Given the description of an element on the screen output the (x, y) to click on. 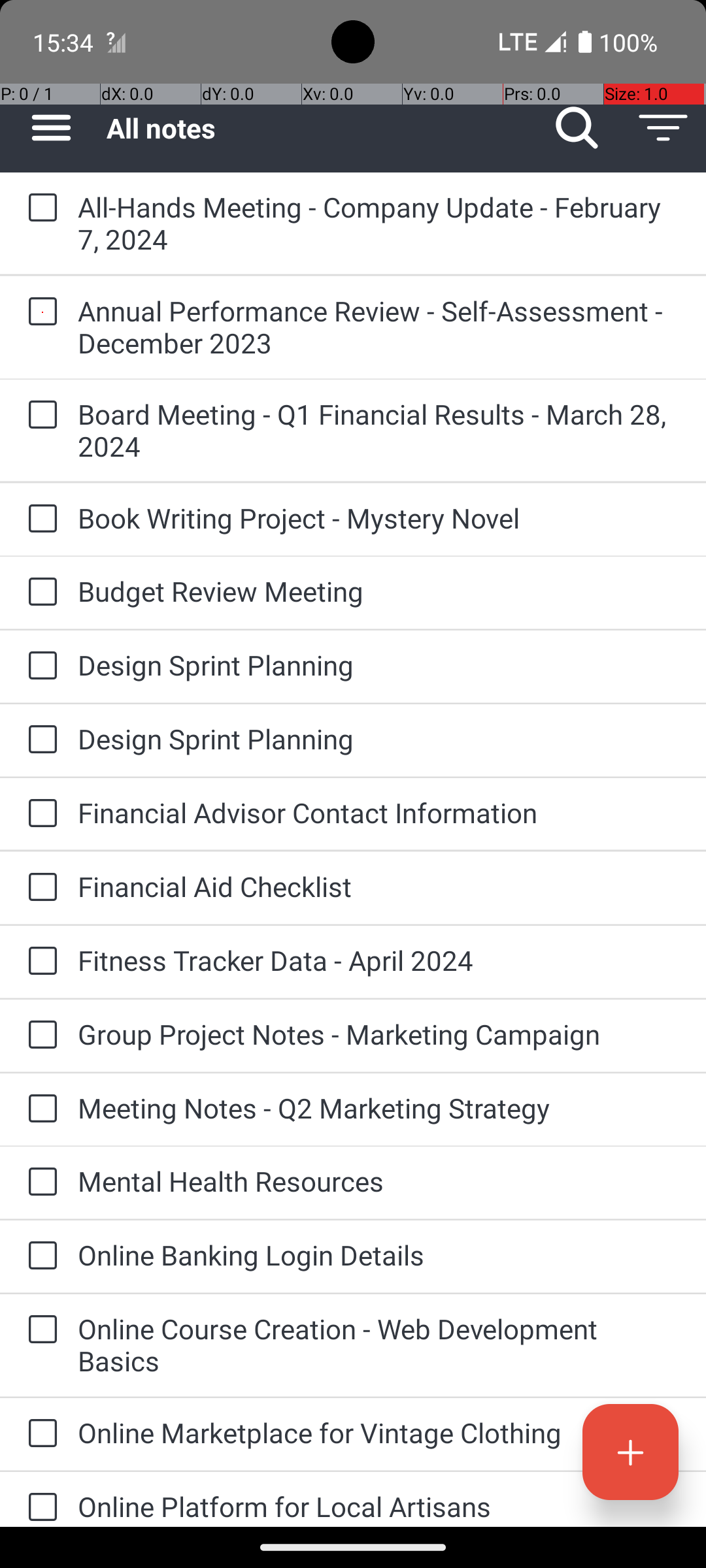
to-do: All-Hands Meeting - Company Update - February 7, 2024 Element type: android.widget.CheckBox (38, 208)
All-Hands Meeting - Company Update - February 7, 2024 Element type: android.widget.TextView (378, 222)
to-do: Board Meeting - Q1 Financial Results - March 28, 2024 Element type: android.widget.CheckBox (38, 415)
Board Meeting - Q1 Financial Results - March 28, 2024 Element type: android.widget.TextView (378, 429)
to-do: Book Writing Project - Mystery Novel Element type: android.widget.CheckBox (38, 519)
Book Writing Project - Mystery Novel Element type: android.widget.TextView (378, 517)
to-do: Budget Review Meeting Element type: android.widget.CheckBox (38, 592)
Budget Review Meeting Element type: android.widget.TextView (378, 590)
to-do: Design Sprint Planning Element type: android.widget.CheckBox (38, 666)
Design Sprint Planning Element type: android.widget.TextView (378, 664)
to-do: Financial Aid Checklist Element type: android.widget.CheckBox (38, 887)
Financial Aid Checklist Element type: android.widget.TextView (378, 885)
to-do: Fitness Tracker Data - April 2024 Element type: android.widget.CheckBox (38, 961)
Fitness Tracker Data - April 2024 Element type: android.widget.TextView (378, 959)
to-do: Meeting Notes - Q2 Marketing Strategy Element type: android.widget.CheckBox (38, 1109)
Meeting Notes - Q2 Marketing Strategy Element type: android.widget.TextView (378, 1107)
to-do: Mental Health Resources Element type: android.widget.CheckBox (38, 1182)
Mental Health Resources Element type: android.widget.TextView (378, 1180)
to-do: Online Banking Login Details Element type: android.widget.CheckBox (38, 1256)
Online Banking Login Details Element type: android.widget.TextView (378, 1254)
to-do: Online Course Creation - Web Development Basics Element type: android.widget.CheckBox (38, 1330)
Online Course Creation - Web Development Basics Element type: android.widget.TextView (378, 1344)
to-do: Online Marketplace for Vintage Clothing Element type: android.widget.CheckBox (38, 1434)
Online Marketplace for Vintage Clothing Element type: android.widget.TextView (378, 1432)
to-do: Online Platform for Local Artisans Element type: android.widget.CheckBox (38, 1498)
Online Platform for Local Artisans Element type: android.widget.TextView (378, 1505)
